Given the description of an element on the screen output the (x, y) to click on. 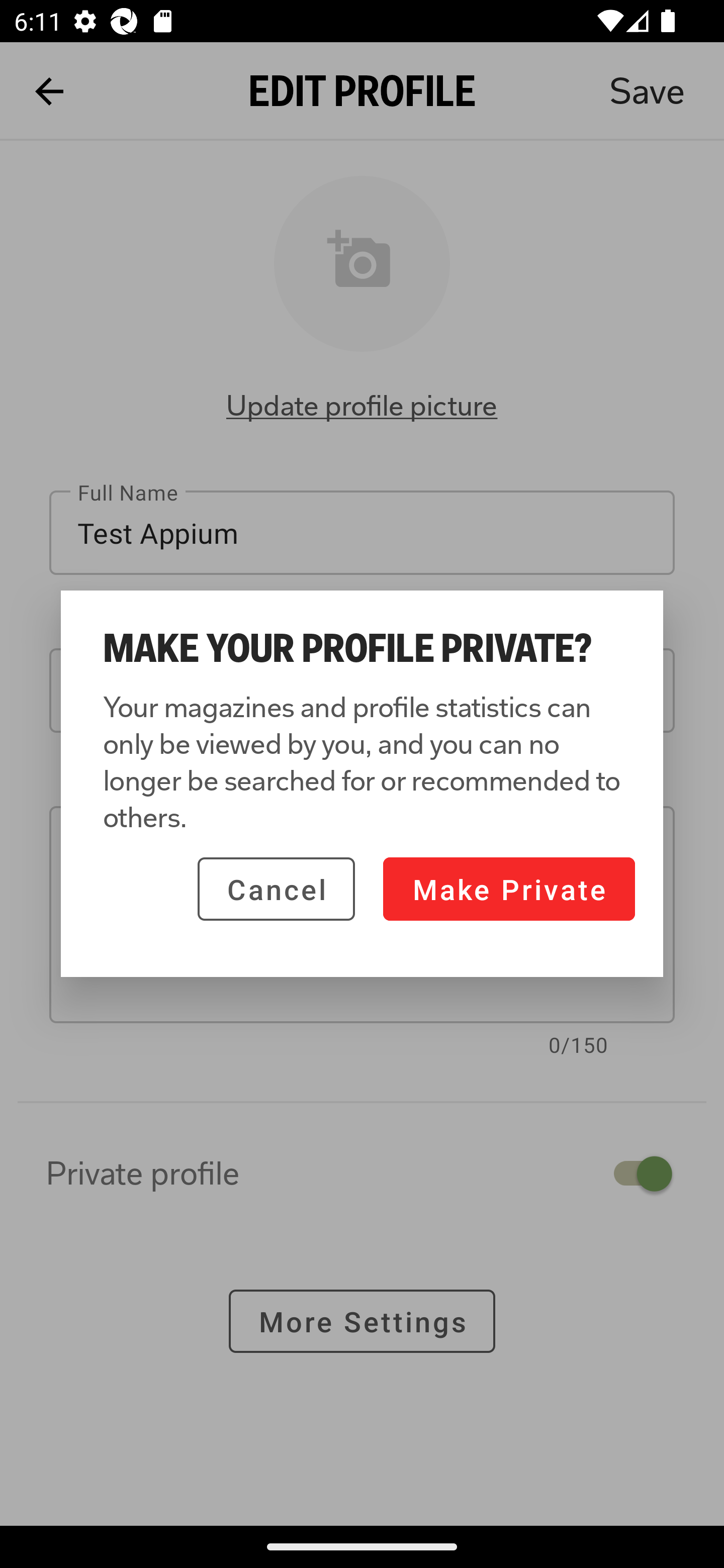
Cancel (275, 888)
Make Private (508, 888)
